Given the description of an element on the screen output the (x, y) to click on. 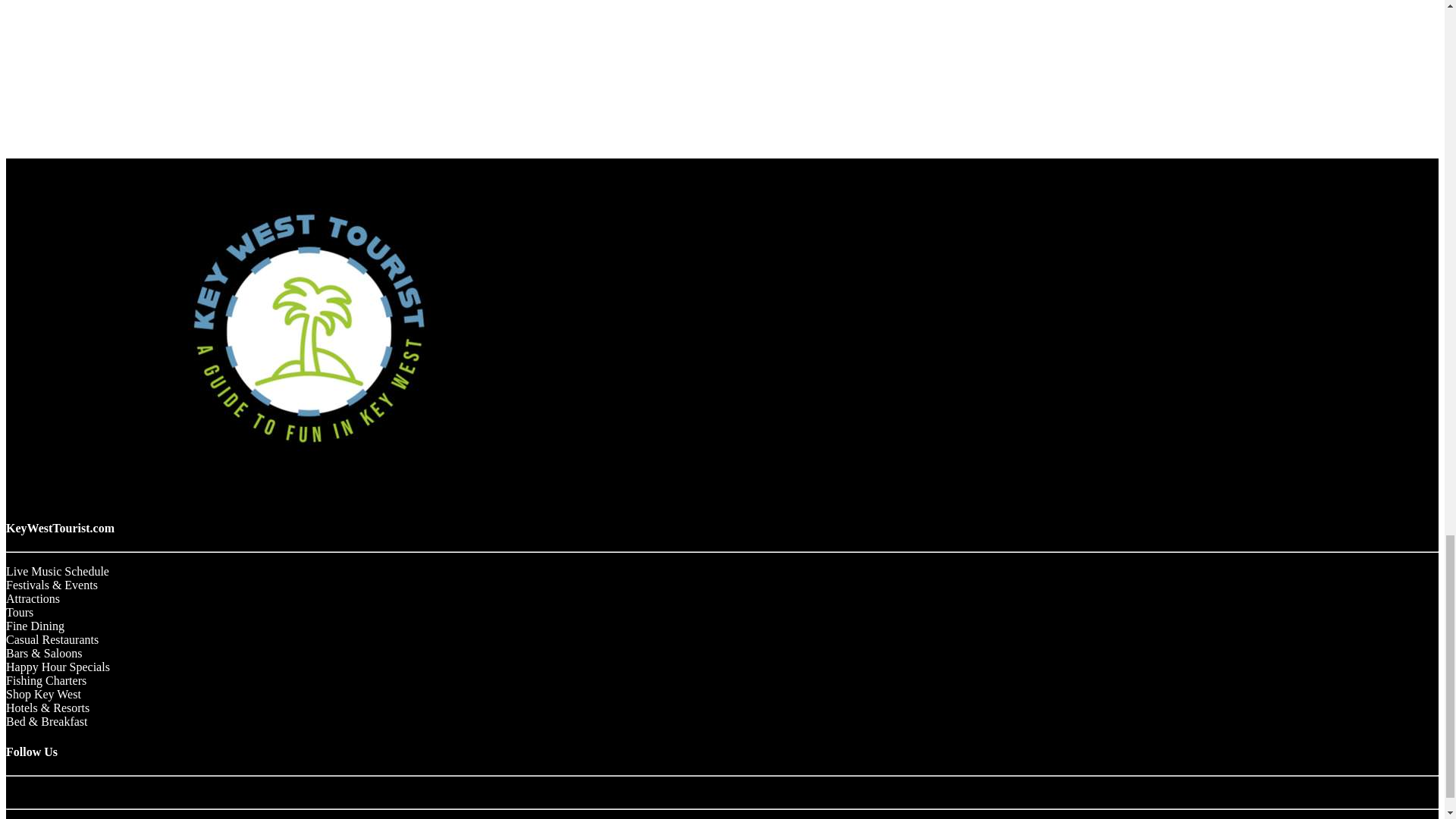
Happy Hour Specials (57, 666)
Live Music Schedule (57, 571)
Fine Dining (34, 625)
Shop Key West (43, 694)
Attractions (32, 598)
Fishing Charters (45, 680)
Tours (19, 612)
Key West Tourist (308, 484)
Casual Restaurants (52, 639)
